Given the description of an element on the screen output the (x, y) to click on. 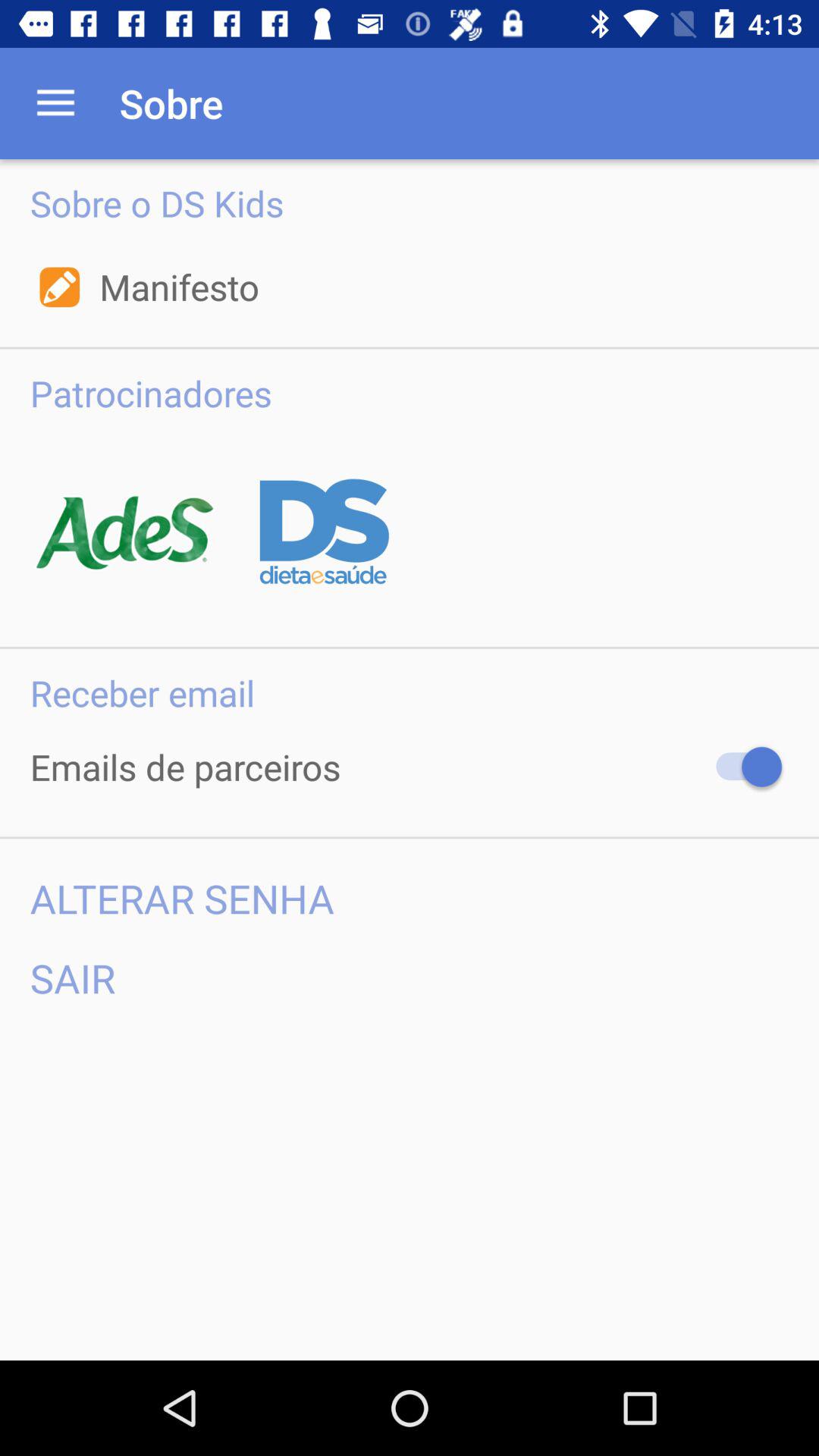
select icon on the right (741, 766)
